Given the description of an element on the screen output the (x, y) to click on. 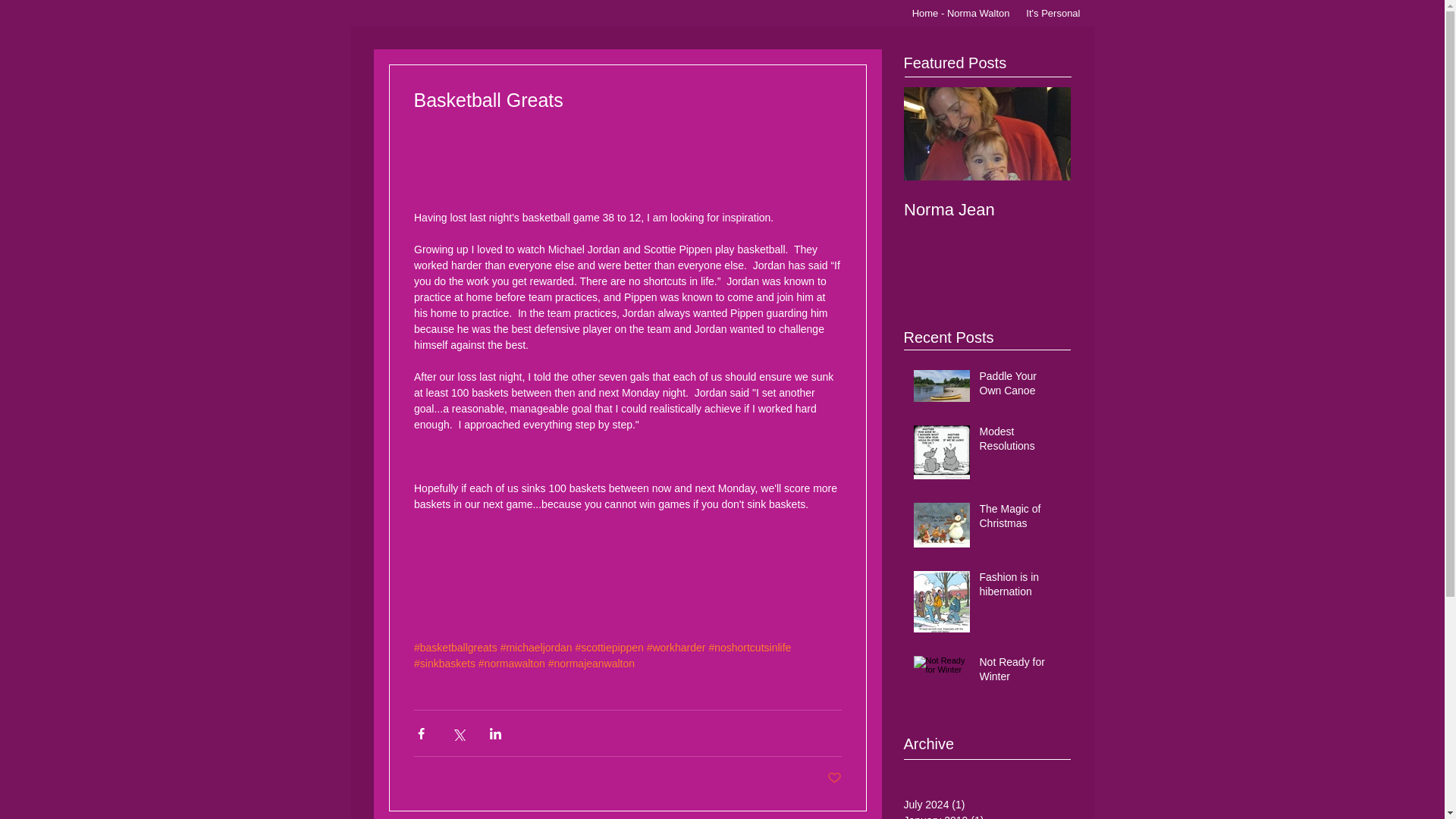
Fashion is in hibernation (1020, 588)
Not Ready for Winter (1020, 673)
Paddle Your Own Canoe (1020, 386)
Home - Norma Walton (957, 13)
Post not marked as liked (834, 778)
The Magic of Christmas (1020, 519)
Norma Jean (987, 209)
It's Personal (1052, 13)
Modest Resolutions (1020, 442)
